Given the description of an element on the screen output the (x, y) to click on. 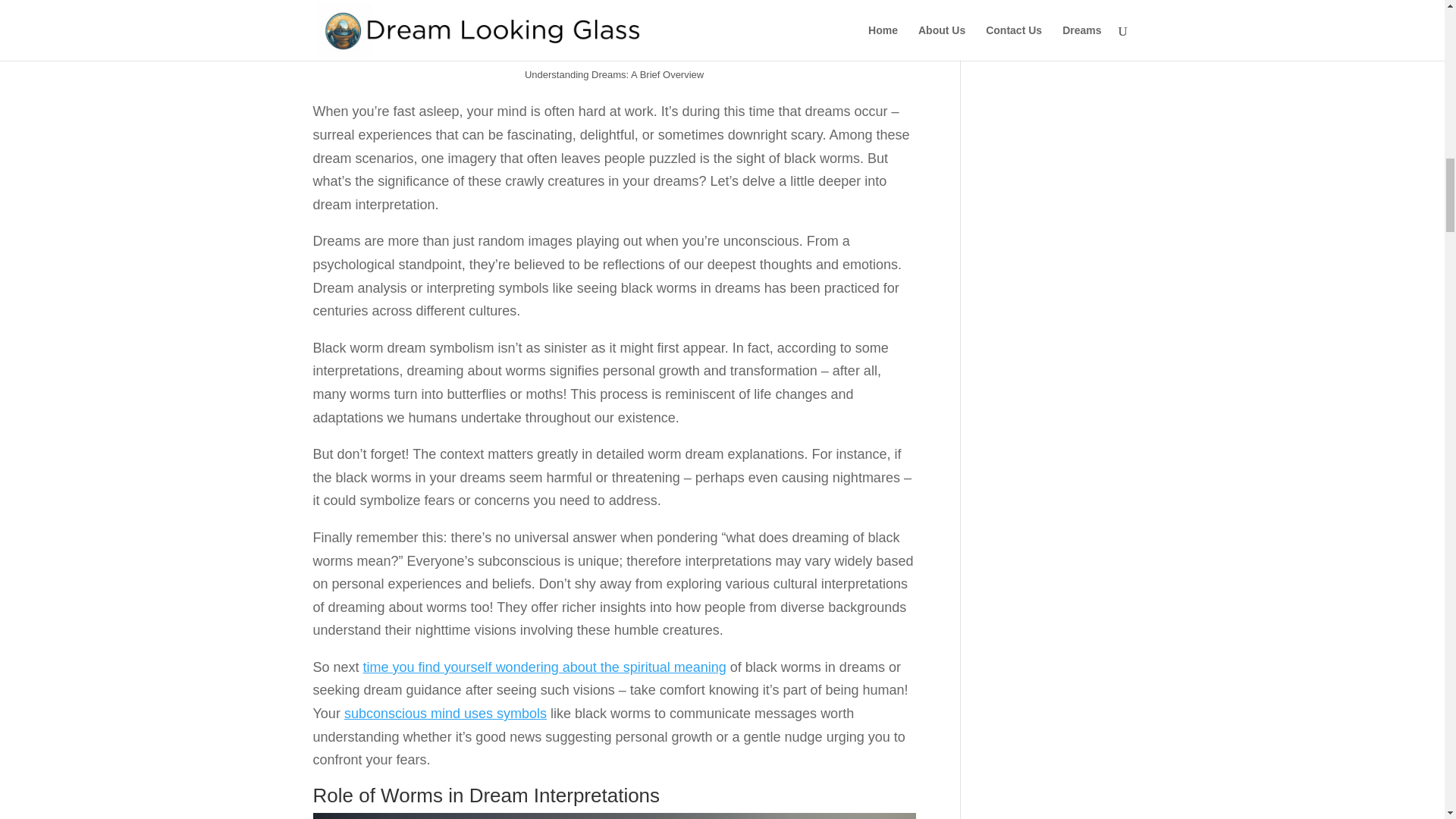
time you find yourself wondering about the spiritual meaning (544, 667)
subconscious mind uses symbols (445, 713)
